Given the description of an element on the screen output the (x, y) to click on. 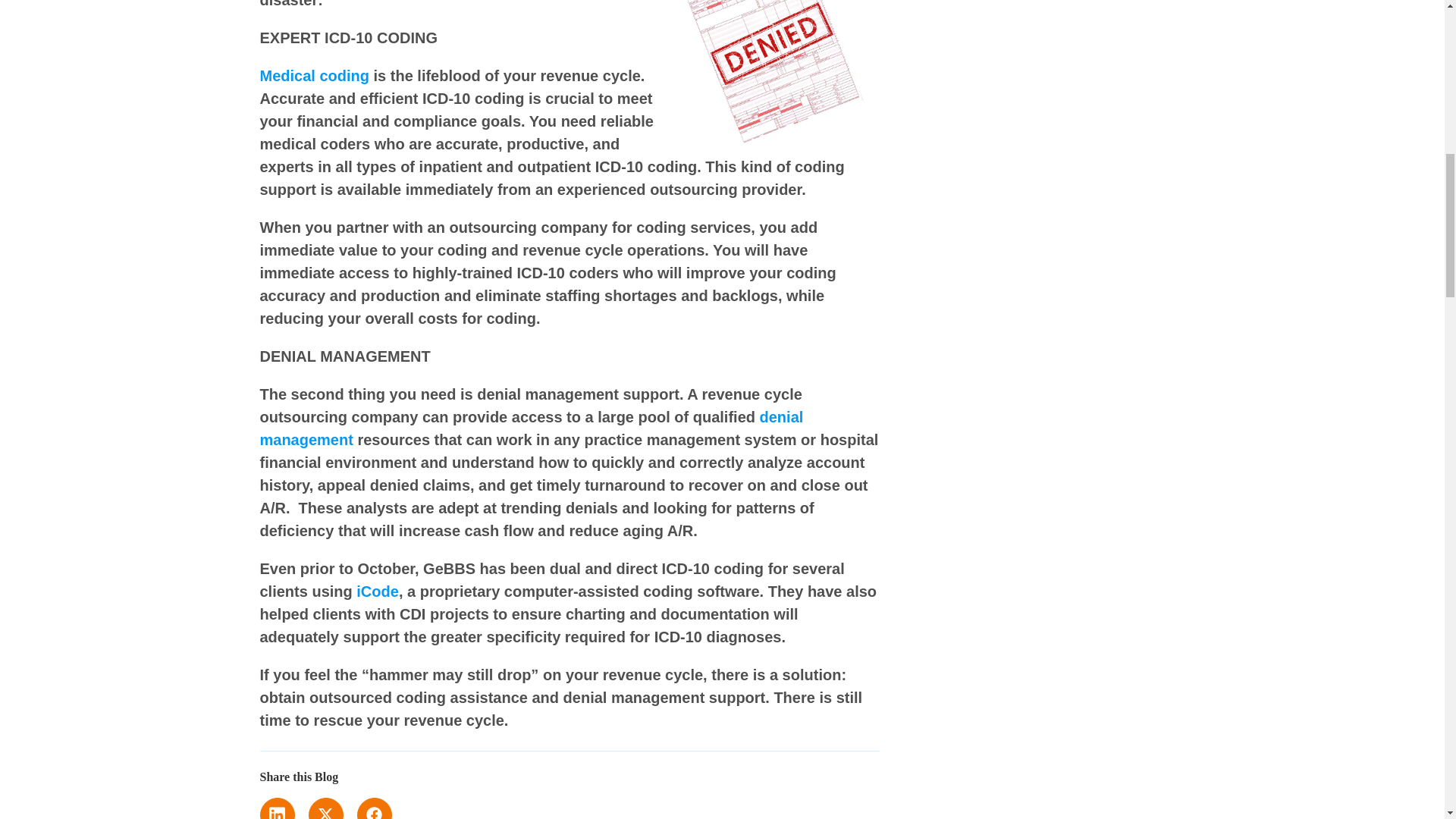
Share on LinkedIn (276, 808)
Share on Facebook (373, 808)
Share on X (324, 808)
